Given the description of an element on the screen output the (x, y) to click on. 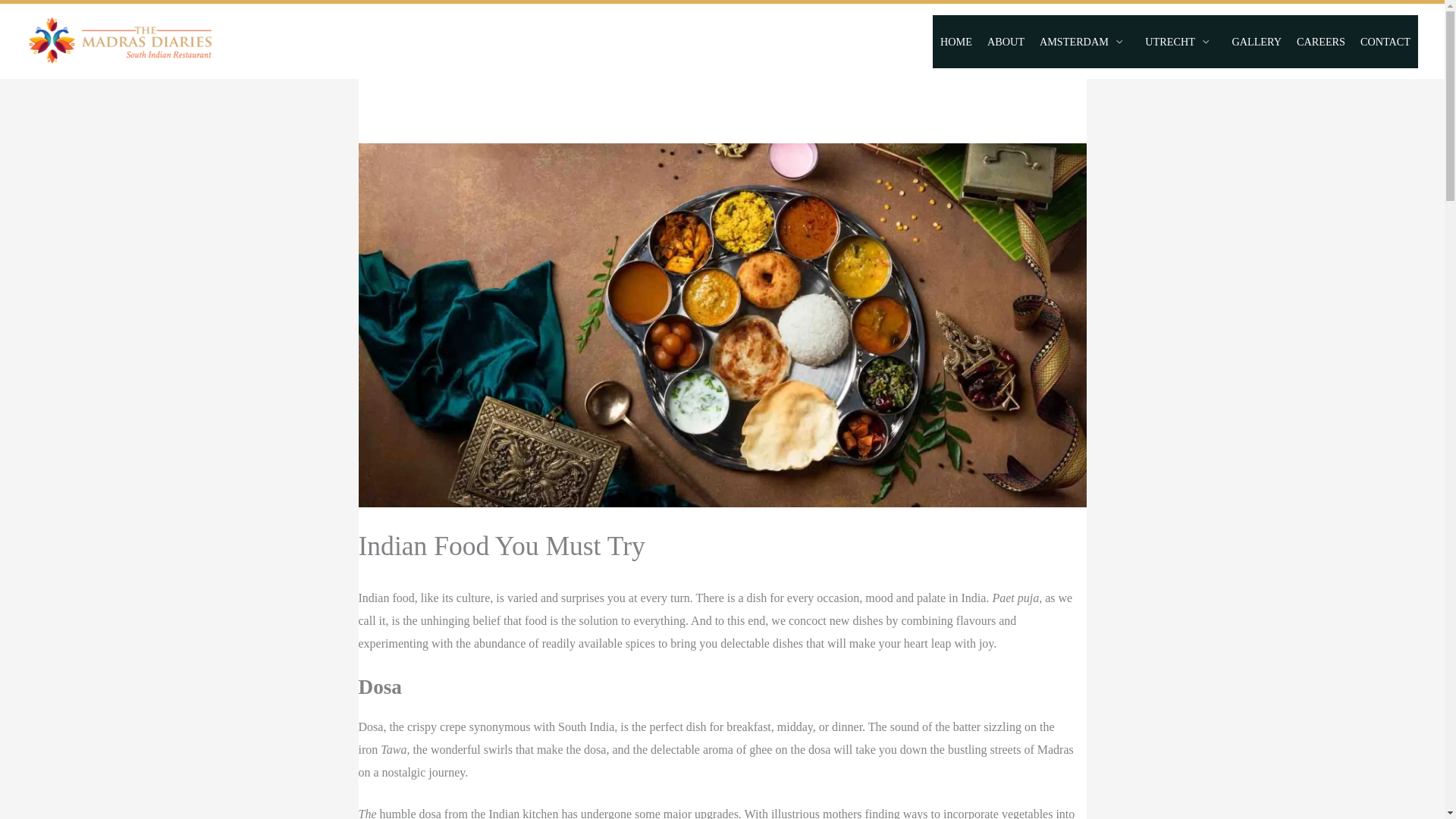
UTRECHT (1180, 41)
AMSTERDAM (1084, 41)
CAREERS (1320, 41)
CONTACT (1385, 41)
GALLERY (1256, 41)
ABOUT (1005, 41)
